Given the description of an element on the screen output the (x, y) to click on. 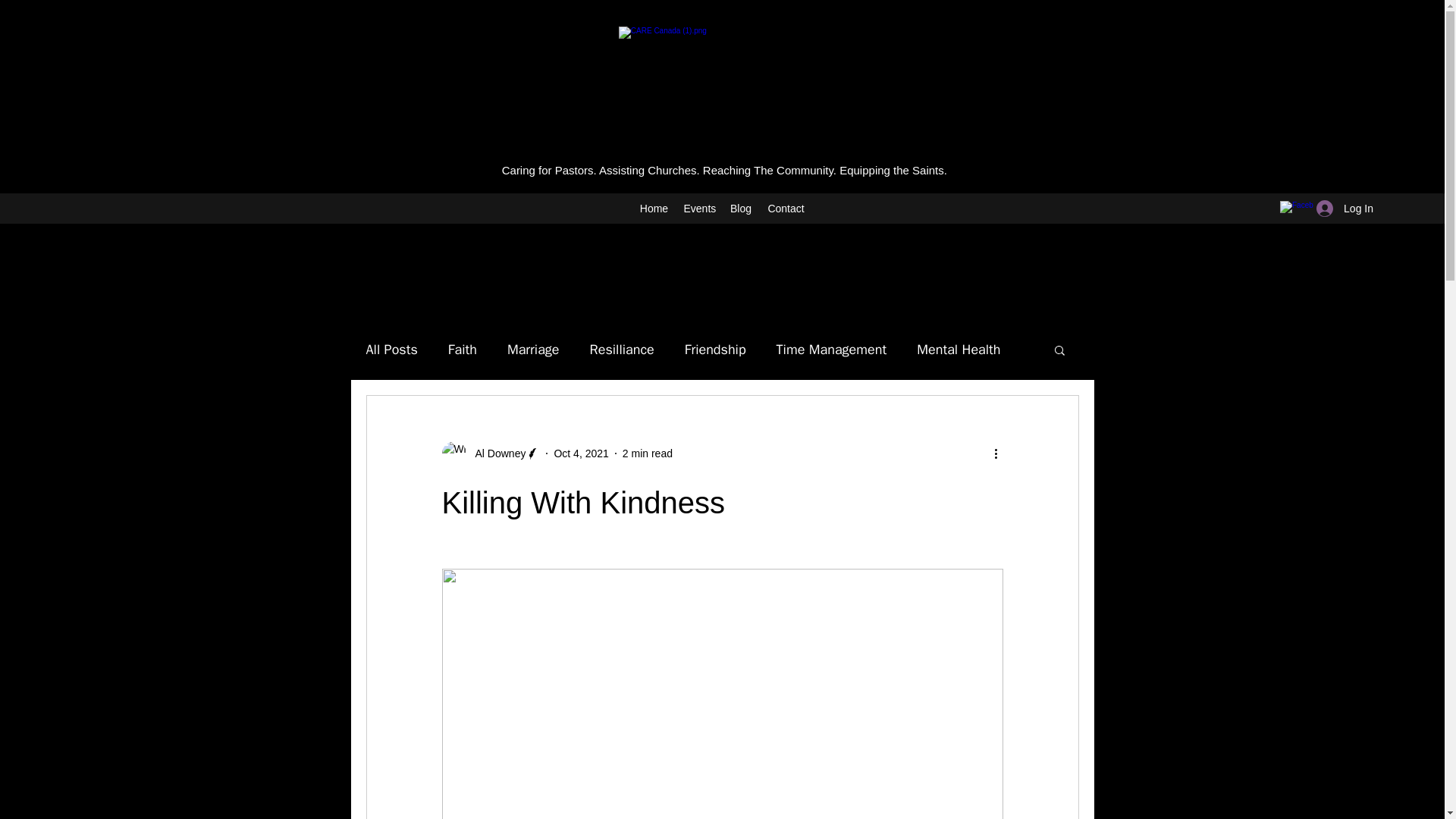
Time Management (831, 349)
Mental Health (958, 349)
Blog (740, 208)
Al Downey (495, 453)
Resilliance (621, 349)
Al Downey (490, 453)
Events (699, 208)
Log In (1345, 208)
Home (654, 208)
All Posts (390, 349)
